Given the description of an element on the screen output the (x, y) to click on. 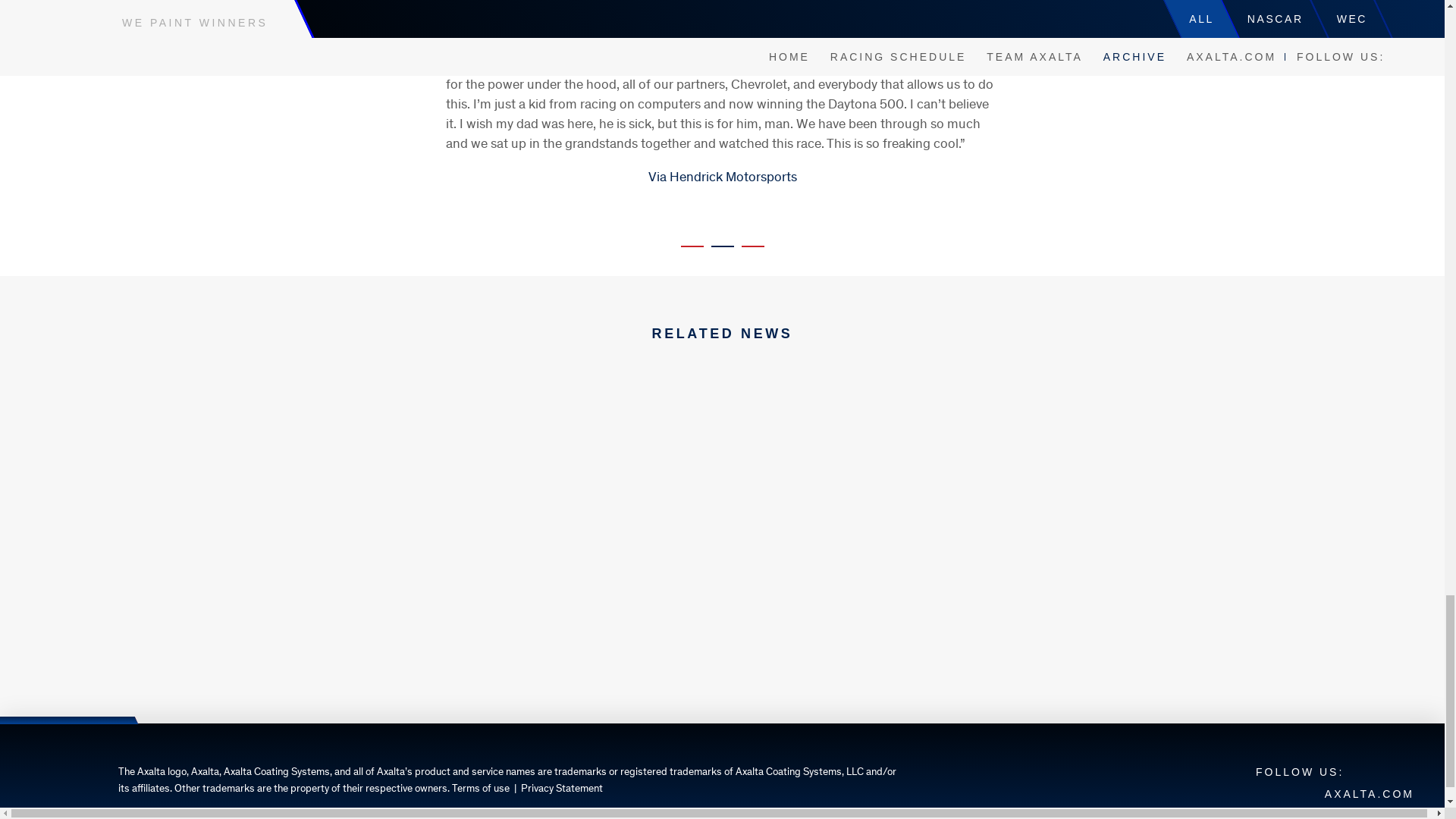
AXALTA.COM (1368, 793)
Via Hendrick Motorsports (721, 178)
Terms of use (480, 788)
Privacy Statement (561, 788)
